Given the description of an element on the screen output the (x, y) to click on. 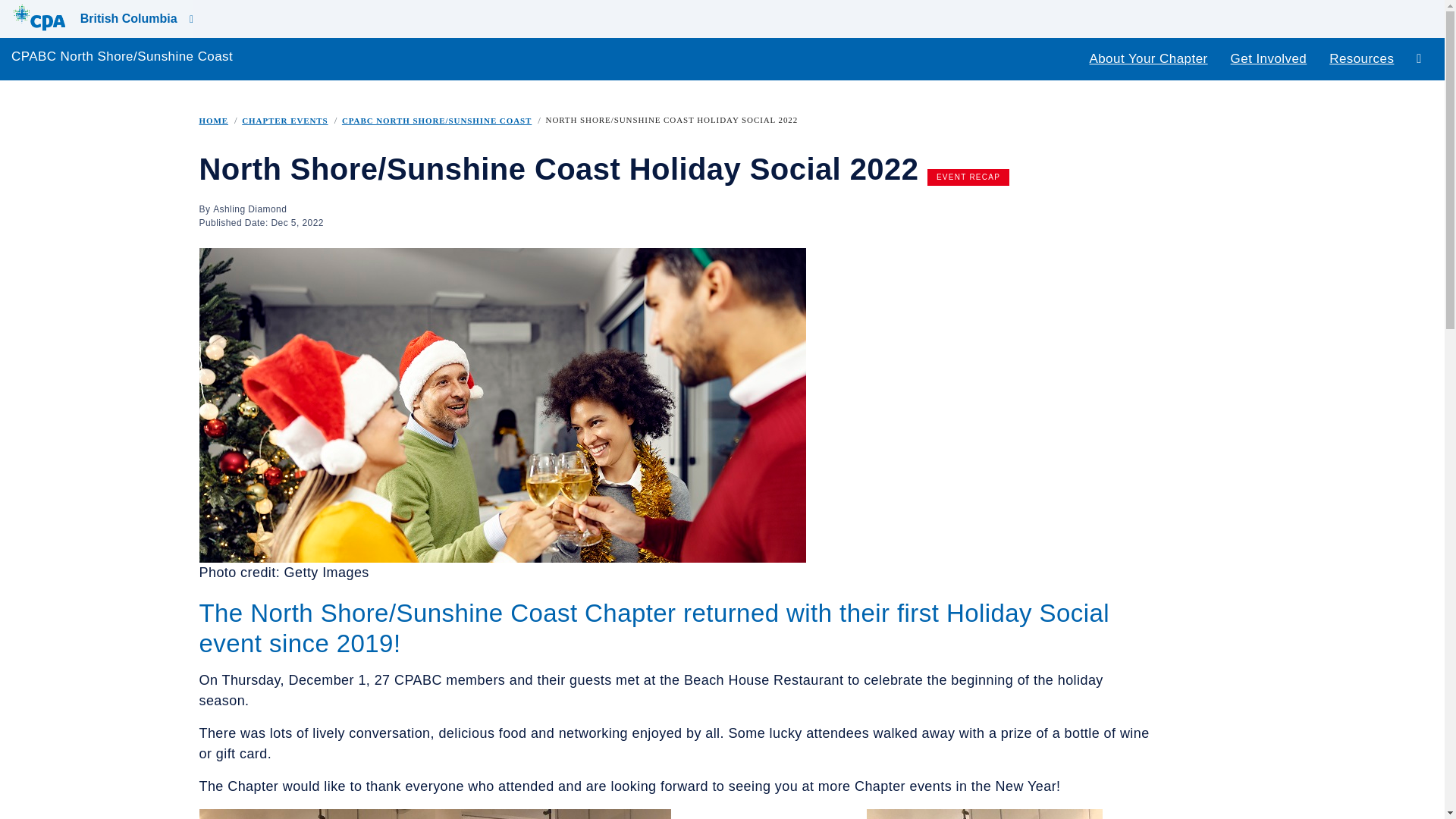
British Columbia (96, 18)
HOME (213, 120)
Get Involved (1269, 58)
CHAPTER EVENTS (284, 120)
Resources (1361, 58)
About Your Chapter (1147, 58)
EVENT RECAP (968, 176)
